Given the description of an element on the screen output the (x, y) to click on. 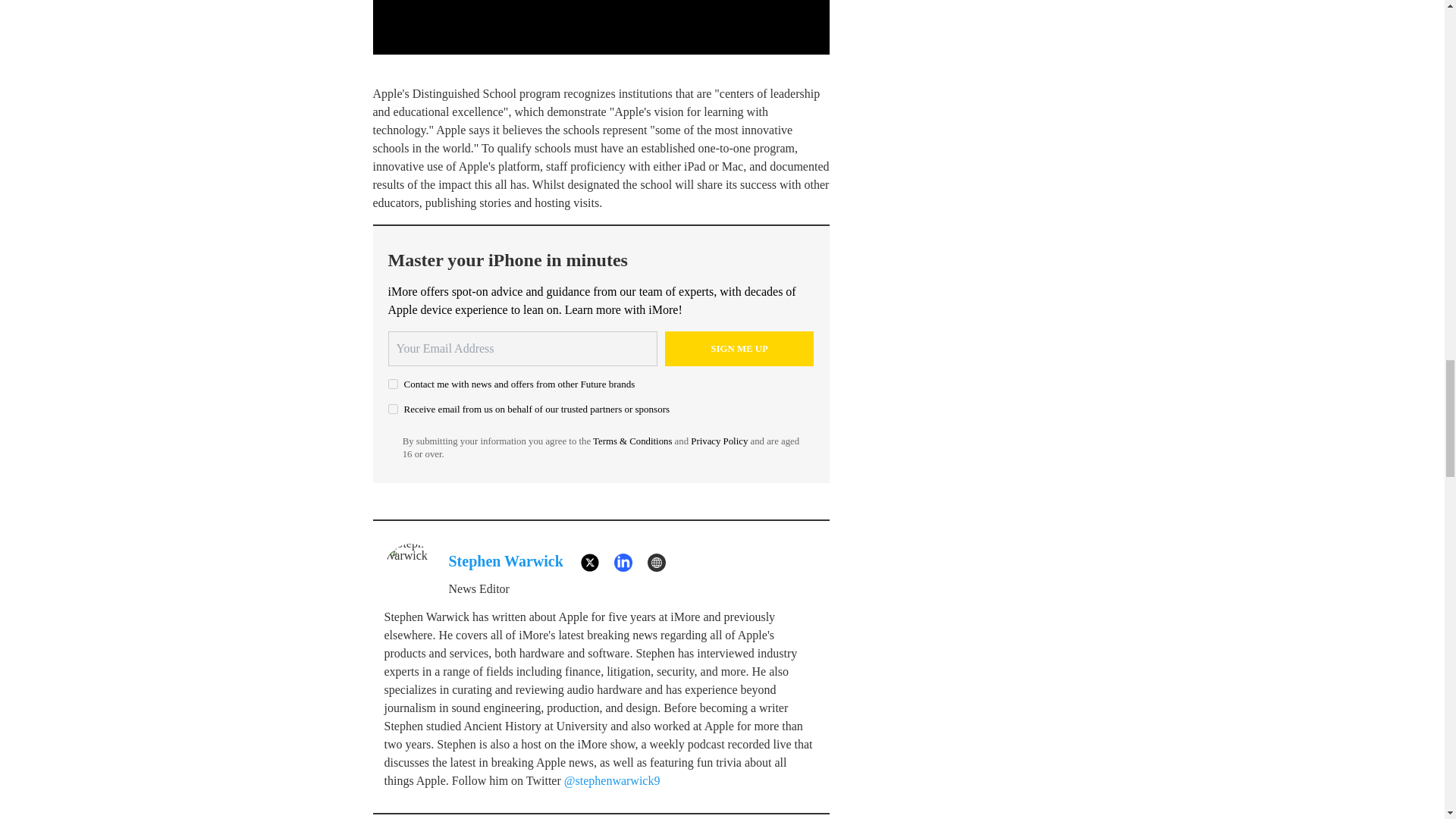
Sign me up (739, 348)
on (392, 409)
on (392, 384)
